Given the description of an element on the screen output the (x, y) to click on. 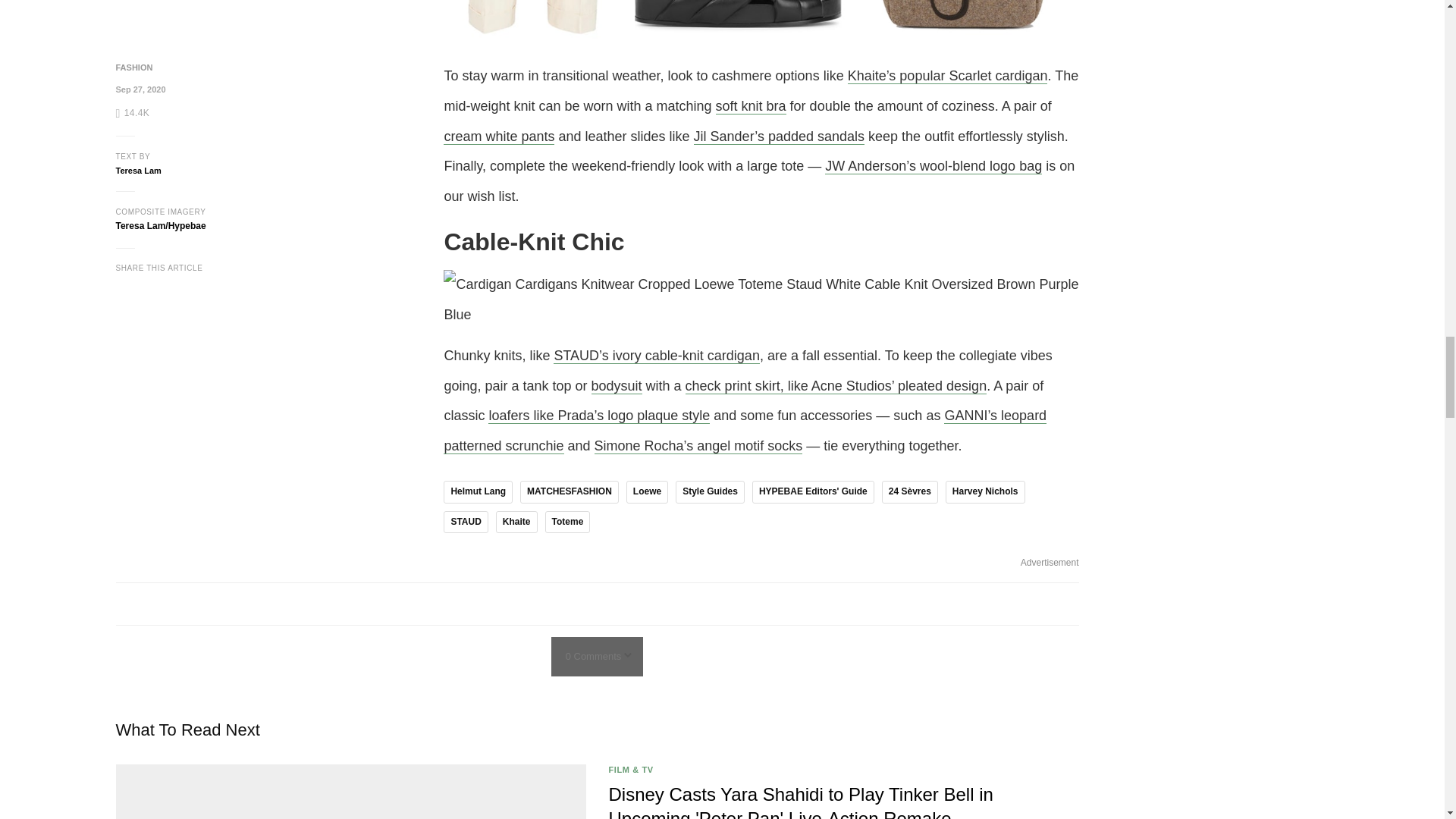
HYPEBAE Editors' Guide (813, 491)
STAUD (465, 522)
Style Guides (709, 491)
Harvey Nichols (984, 491)
Loewe (647, 491)
MATCHESFASHION (568, 491)
Khaite (516, 522)
Helmut Lang (478, 491)
Toteme (567, 522)
